Given the description of an element on the screen output the (x, y) to click on. 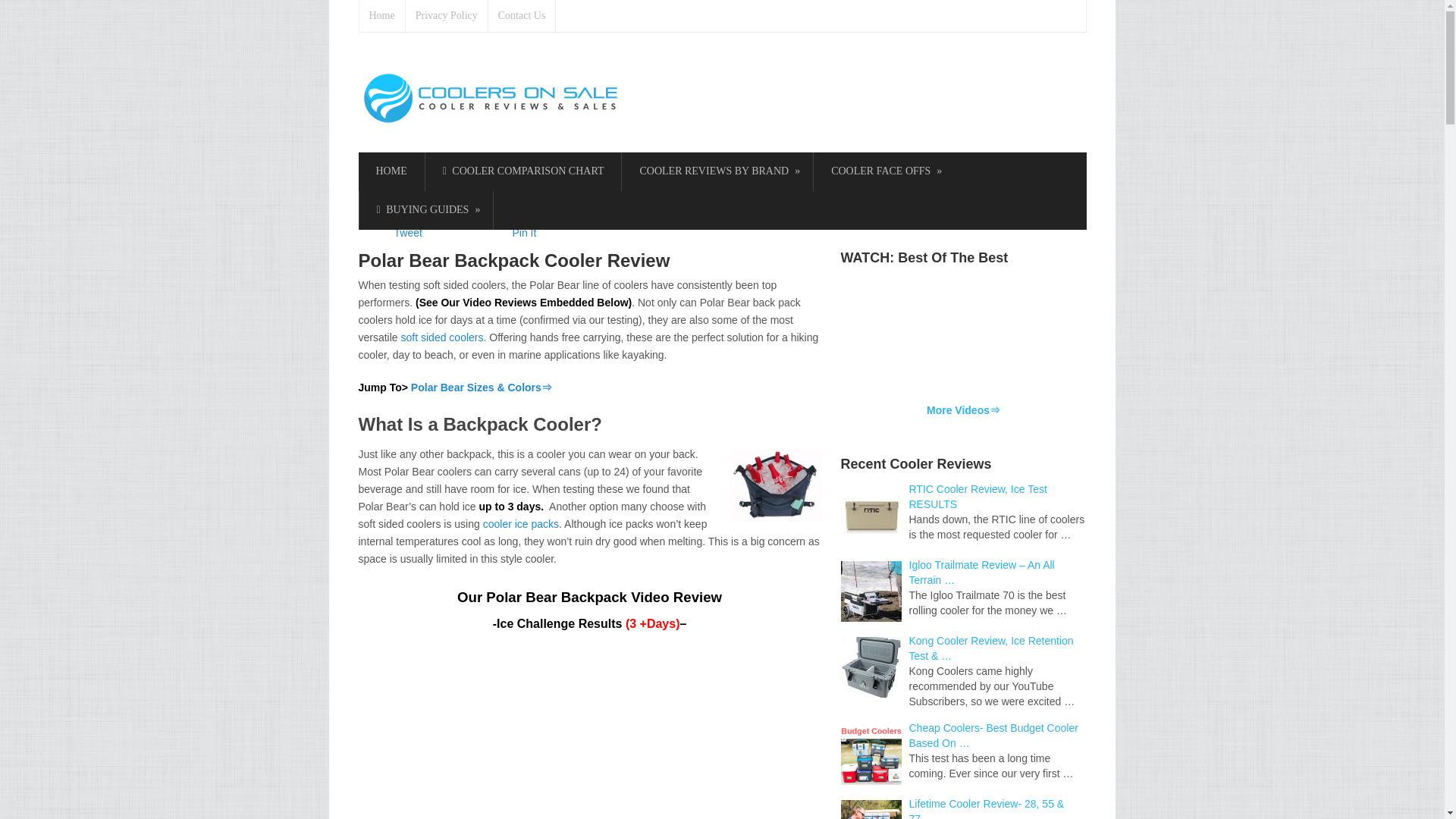
Privacy Policy (446, 15)
BUYING GUIDES (426, 210)
Contact Us (521, 15)
COOLER FACE OFFS (884, 171)
HOME (390, 171)
Home (382, 15)
COOLER COMPARISON CHART (523, 171)
COOLER REVIEWS BY BRAND (716, 171)
